Given the description of an element on the screen output the (x, y) to click on. 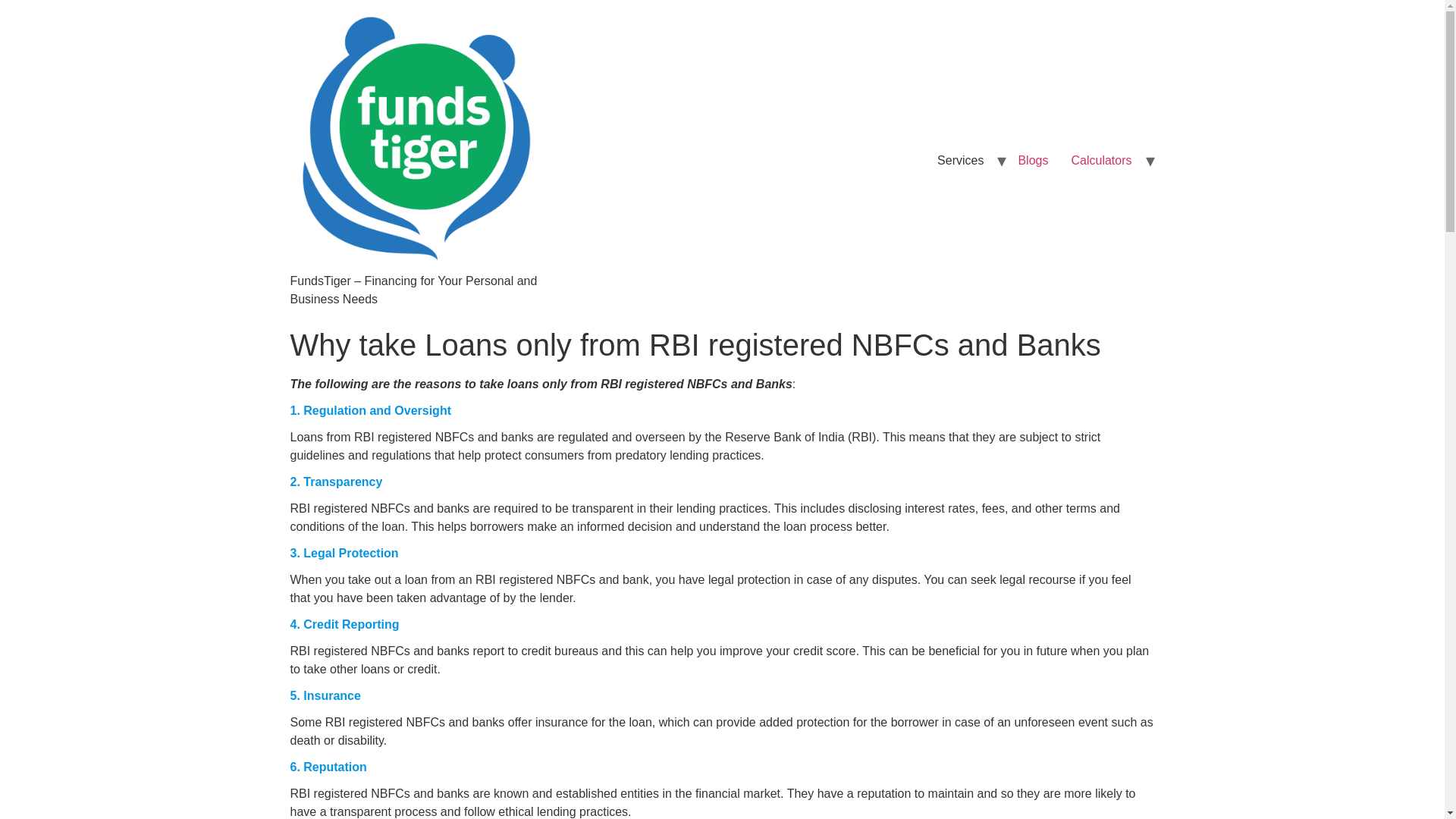
Calculators (1100, 160)
Services (960, 160)
Blogs (1032, 160)
